Given the description of an element on the screen output the (x, y) to click on. 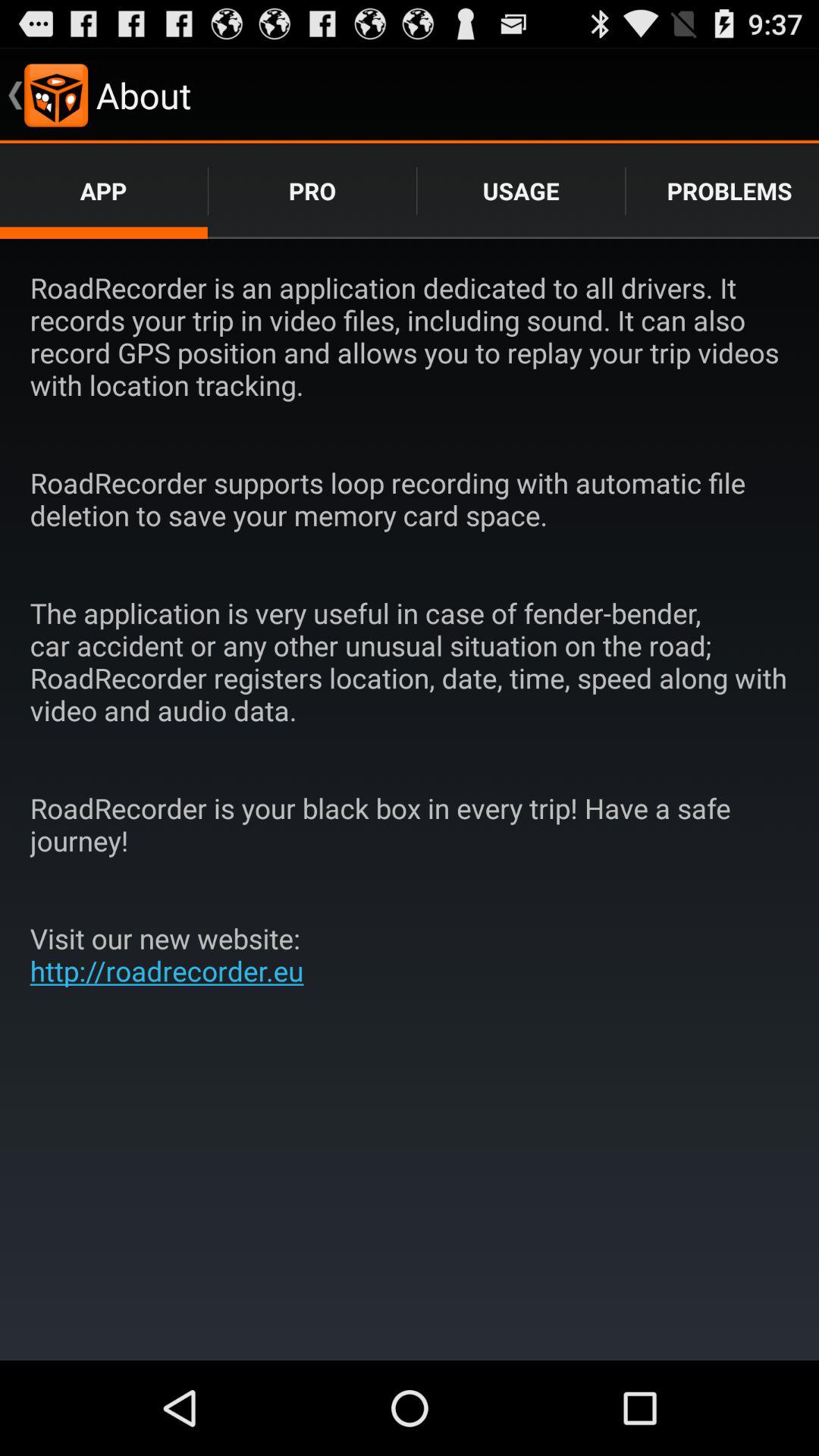
choose icon on the left (172, 954)
